Given the description of an element on the screen output the (x, y) to click on. 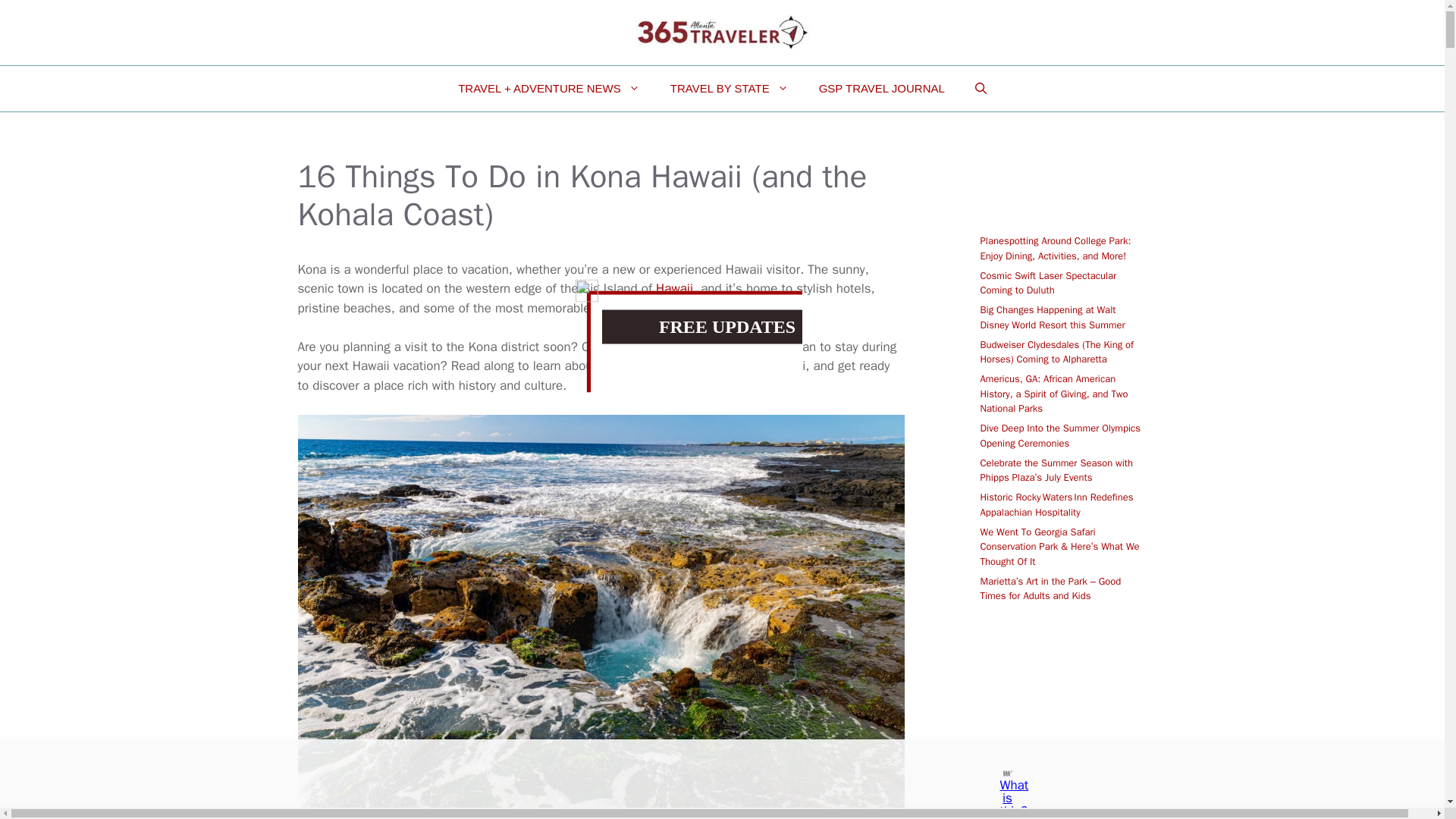
3rd party ad content (708, 773)
TRAVEL BY STATE (729, 88)
Hawaii (672, 288)
GSP TRAVEL JOURNAL (881, 88)
Peles-Well-on-The-Kona-Coast (600, 809)
